Given the description of an element on the screen output the (x, y) to click on. 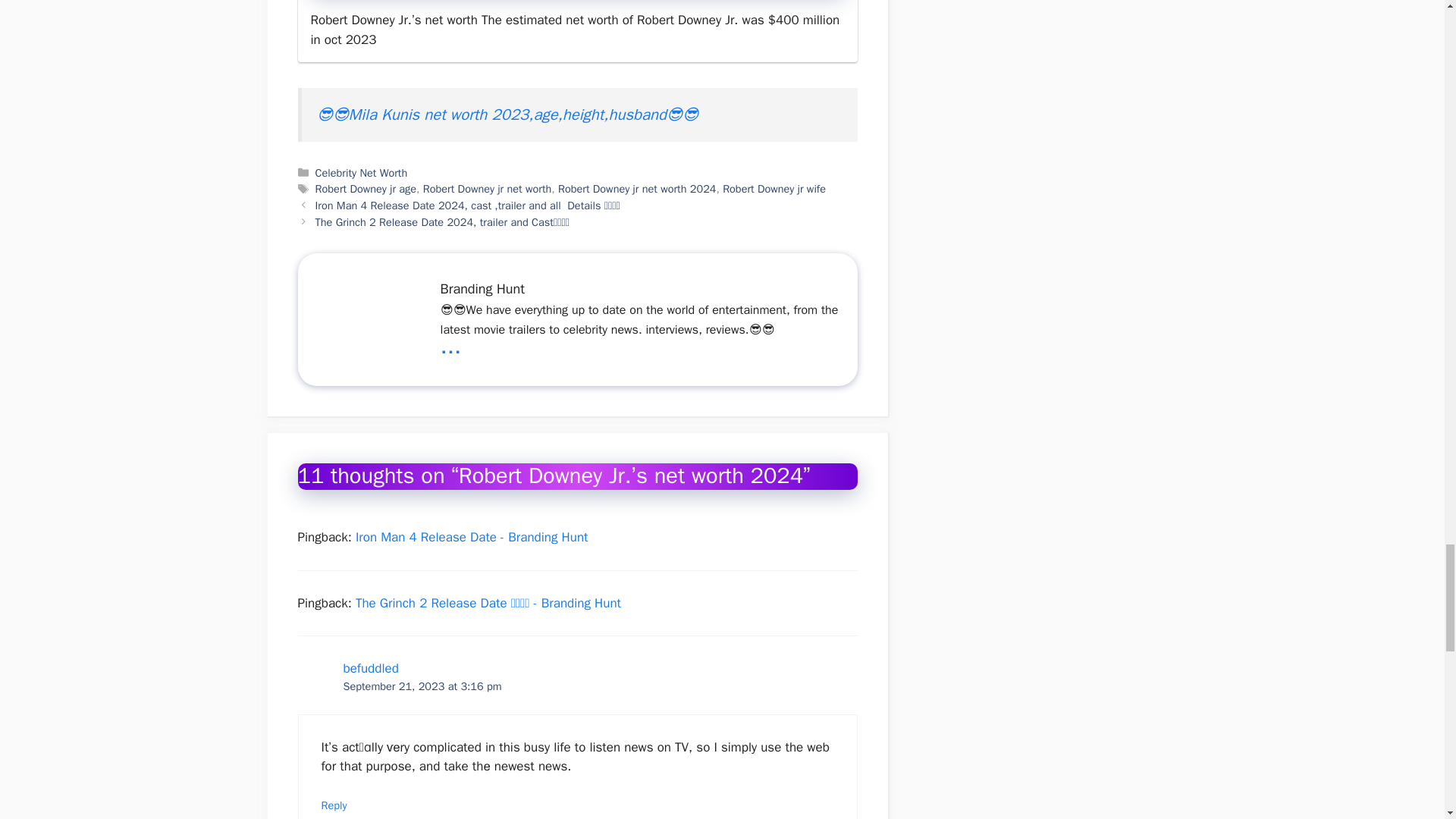
Robert Downey jr net worth 2024 (636, 188)
Robert Downey jr wife (773, 188)
Robert Downey jr age (365, 188)
Robert Downey jr net worth (487, 188)
Celebrity Net Worth (361, 172)
